Given the description of an element on the screen output the (x, y) to click on. 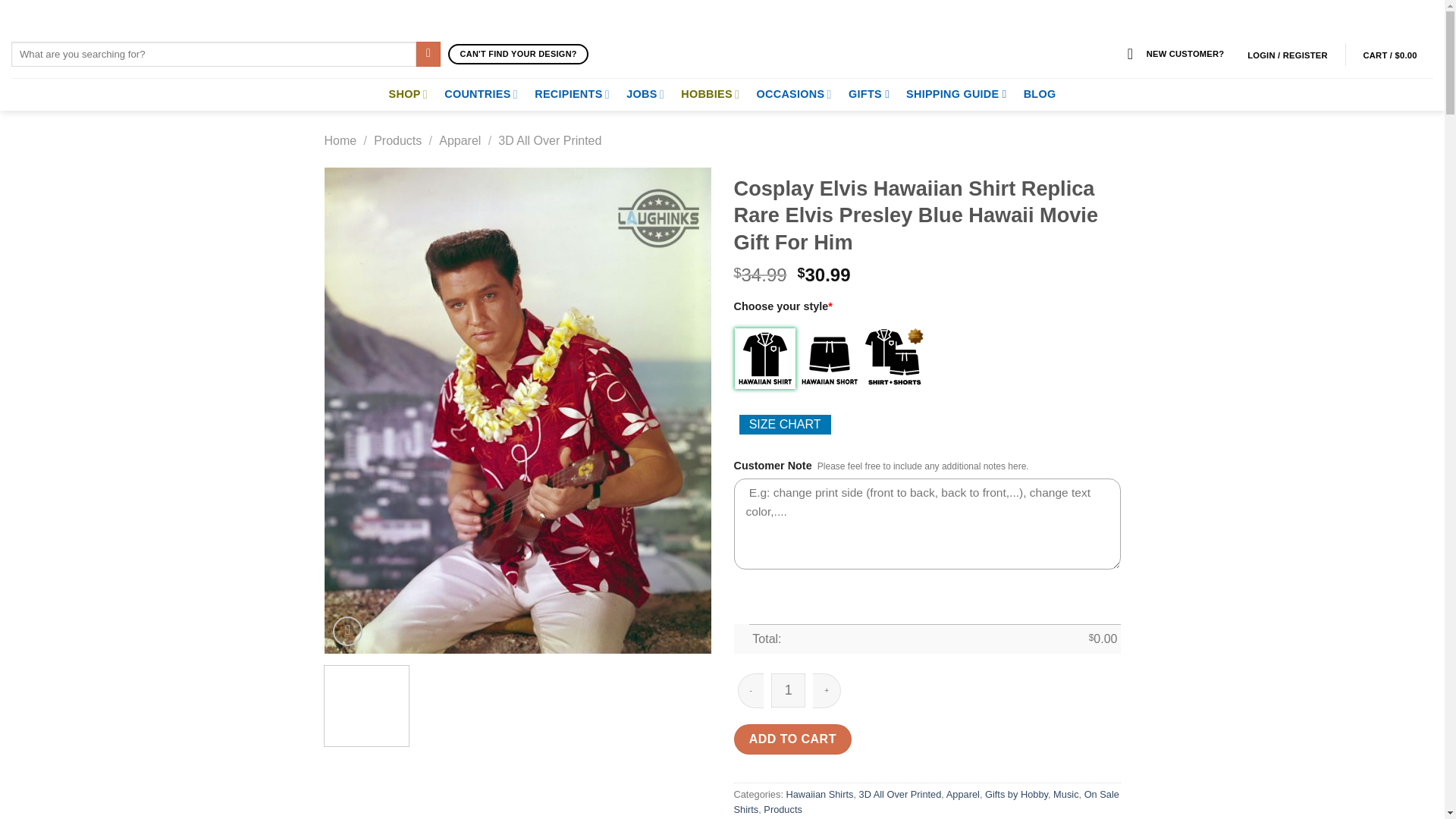
CAN'T FIND YOUR DESIGN? (518, 54)
Cart (1393, 55)
Laughinks - Join the Hilarious Rebellion of Fashion! (722, 38)
Search (427, 54)
1 (788, 690)
Zoom (347, 631)
SHOP (408, 93)
First time shopping at Laughinks? (1175, 53)
NEW CUSTOMER? (1175, 53)
